Given the description of an element on the screen output the (x, y) to click on. 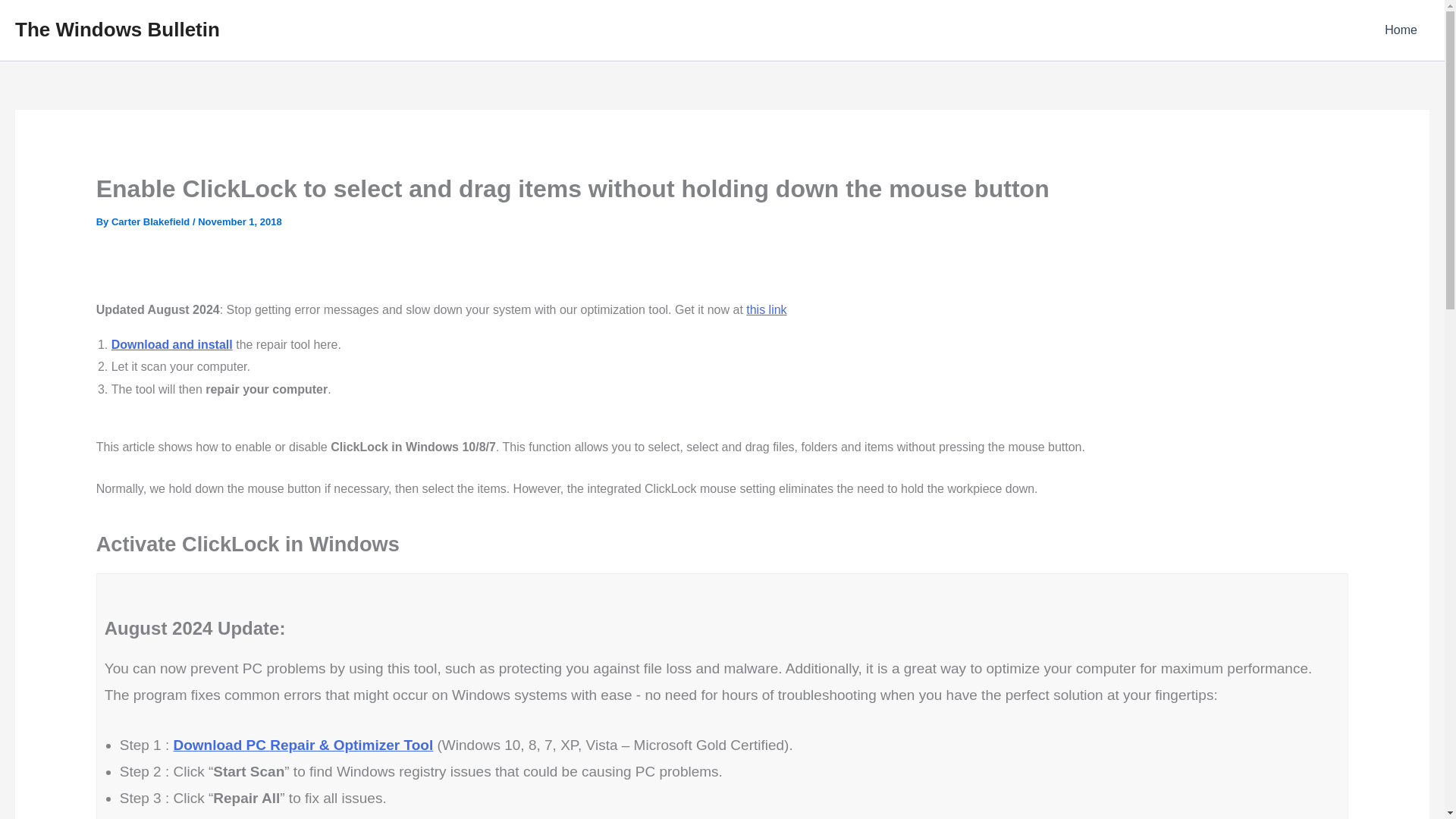
Download and install (172, 344)
this link (765, 309)
Home (1401, 30)
The Windows Bulletin (116, 29)
Carter Blakefield (152, 221)
View all posts by Carter Blakefield (152, 221)
